Given the description of an element on the screen output the (x, y) to click on. 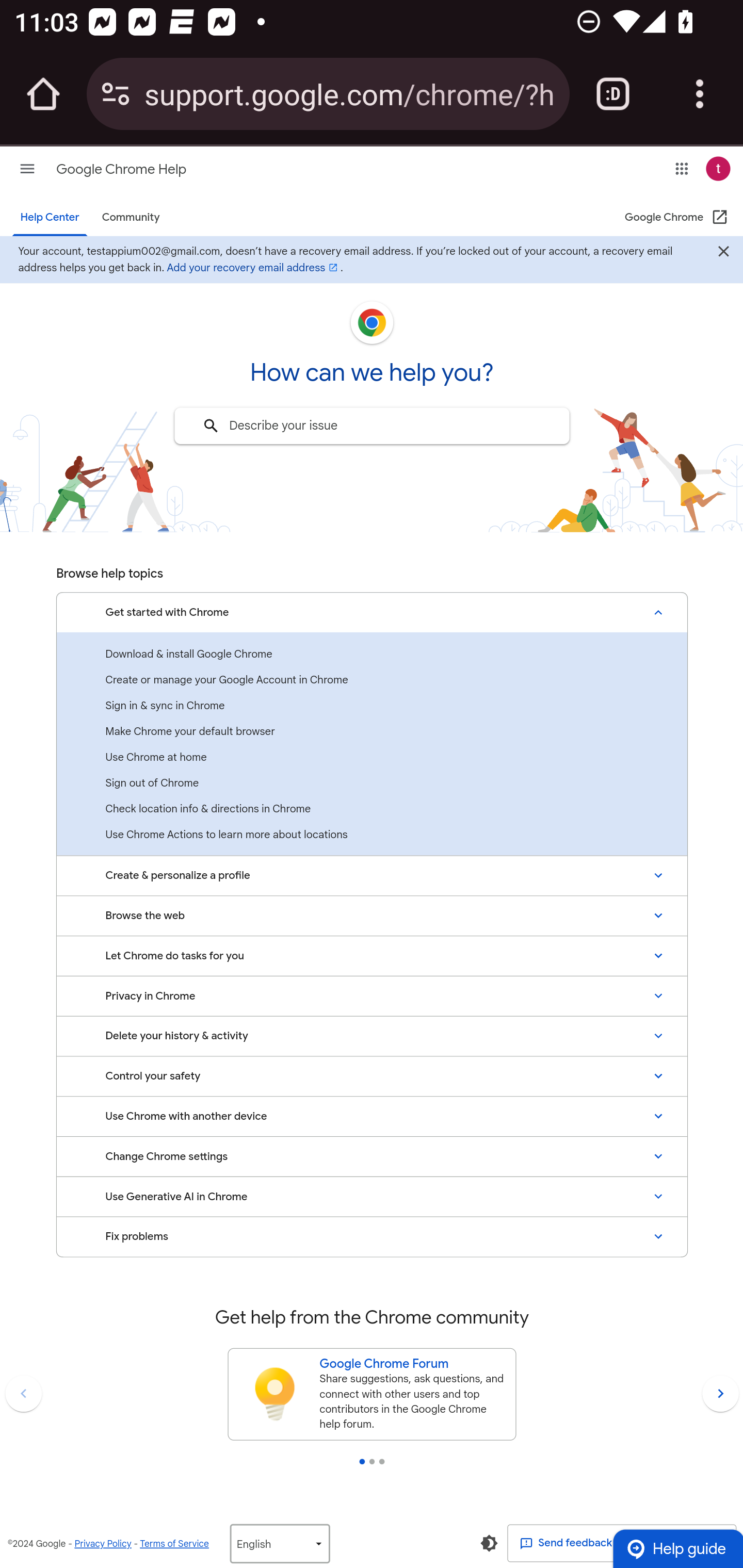
Open the home page (43, 93)
Connection is secure (115, 93)
Switch or close tabs (612, 93)
Customize and control Google Chrome (699, 93)
Main menu (27, 168)
Google Chrome Help (120, 169)
Google apps (681, 168)
Help Center (49, 217)
Community (129, 217)
Google Chrome (Open in a new window) Google Chrome (676, 217)
Close (723, 252)
Add your recovery email address (253, 267)
Search (210, 425)
Download & install Google Chrome (371, 653)
Create or manage your Google Account in Chrome (371, 679)
Sign in & sync in Chrome (371, 704)
Make Chrome your default browser (371, 731)
Use Chrome at home (371, 756)
Sign out of Chrome (371, 782)
Check location info & directions in Chrome (371, 807)
Use Chrome Actions to learn more about locations (371, 834)
Create & personalize a profile (371, 874)
Browse the web (371, 915)
Let Chrome do tasks for you (371, 955)
Privacy in Chrome (371, 995)
Delete your history & activity (371, 1036)
Control your safety (371, 1075)
Use Chrome with another device (371, 1116)
Change Chrome settings (371, 1156)
Use Generative AI in Chrome (371, 1196)
Fix problems (371, 1236)
Google Chrome Forum (413, 1363)
Previous (23, 1393)
Next (720, 1393)
Language (English‎) (278, 1542)
Enable Dark Mode (488, 1542)
 Send feedback about our Help Center (621, 1543)
Help guide (677, 1548)
Privacy Policy (103, 1543)
Terms of Service (174, 1543)
